Given the description of an element on the screen output the (x, y) to click on. 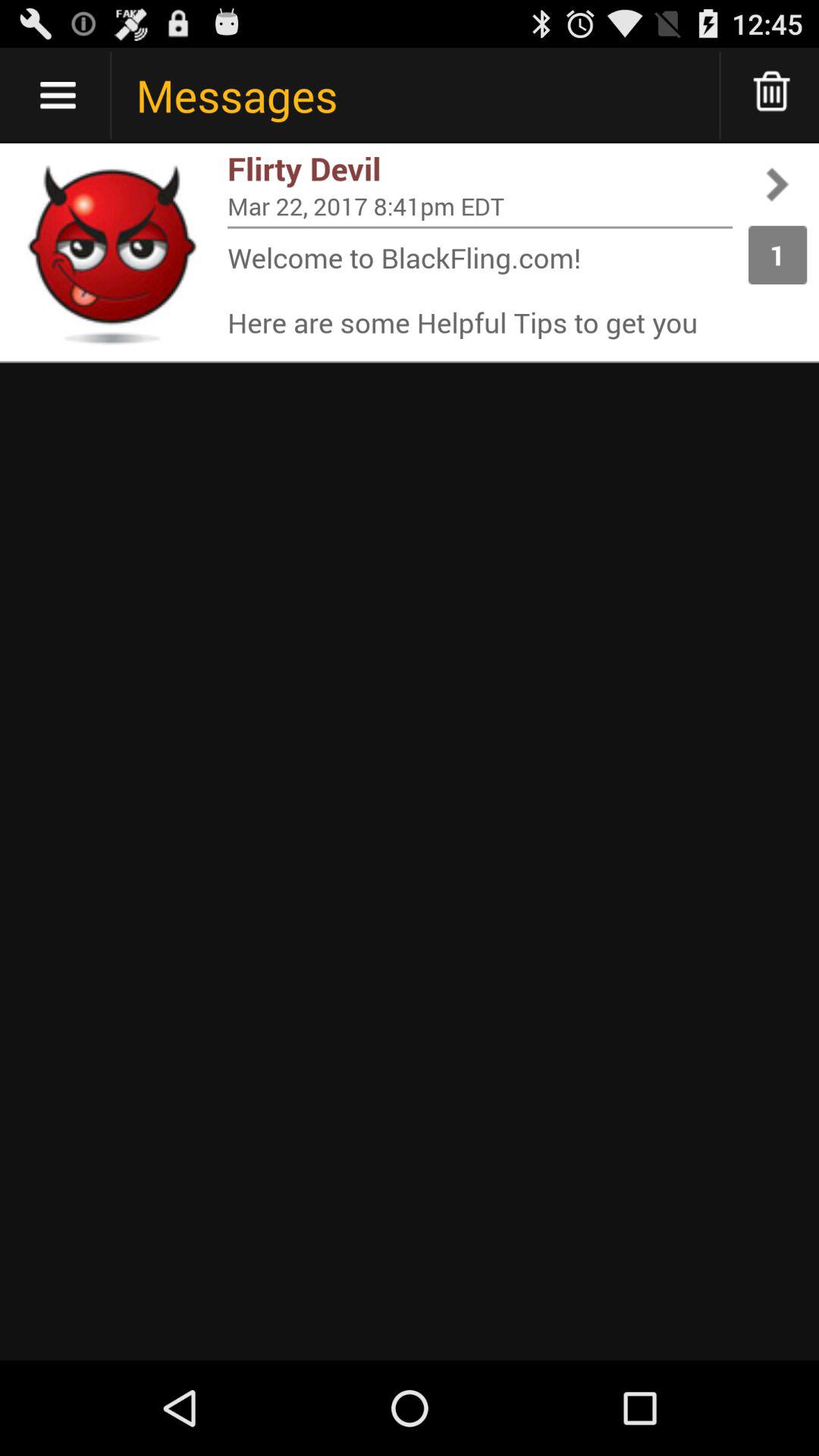
turn off item to the left of the 1 app (479, 227)
